Given the description of an element on the screen output the (x, y) to click on. 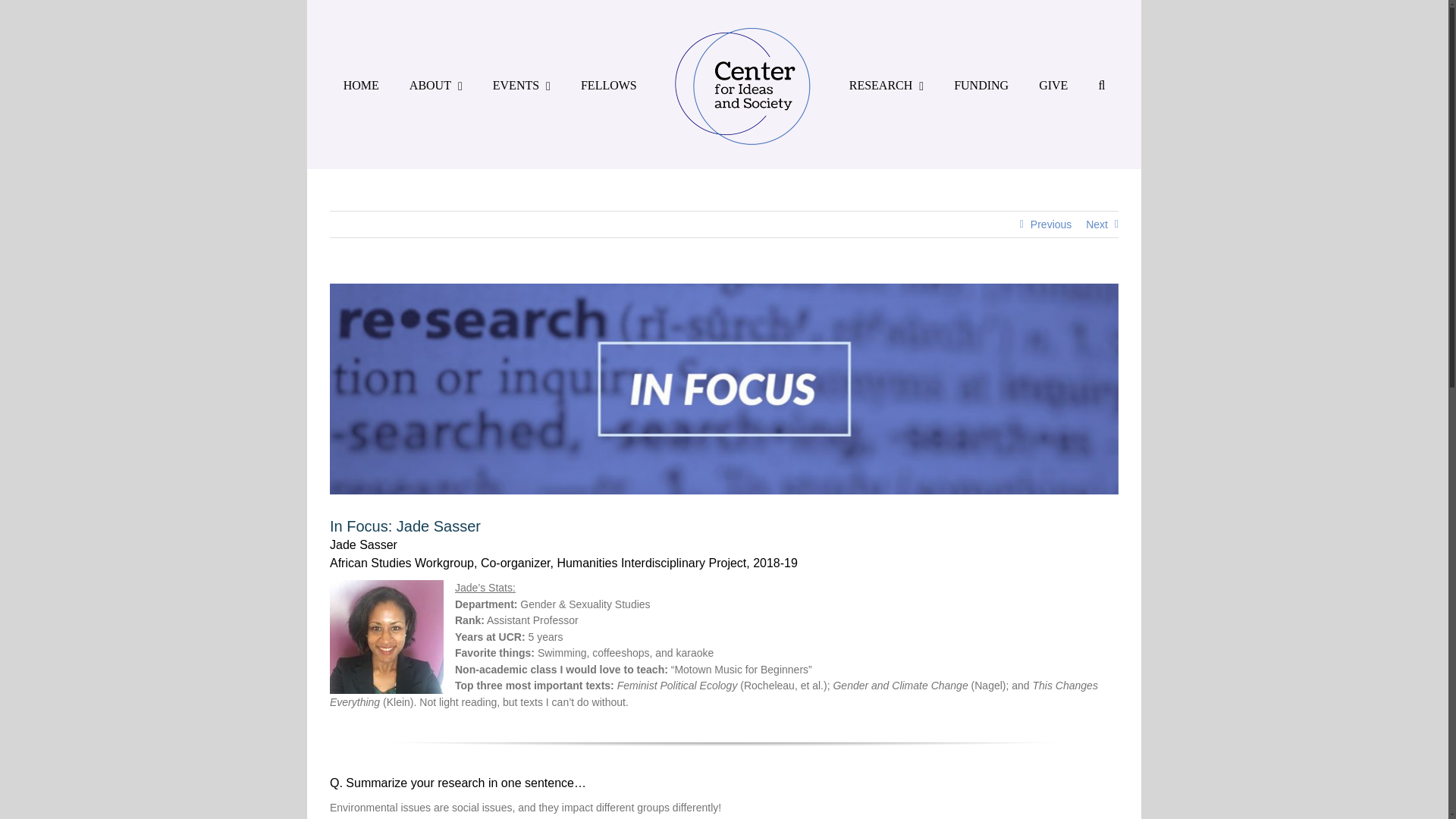
Previous (1050, 224)
EVENTS (521, 85)
RESEARCH (885, 85)
